Given the description of an element on the screen output the (x, y) to click on. 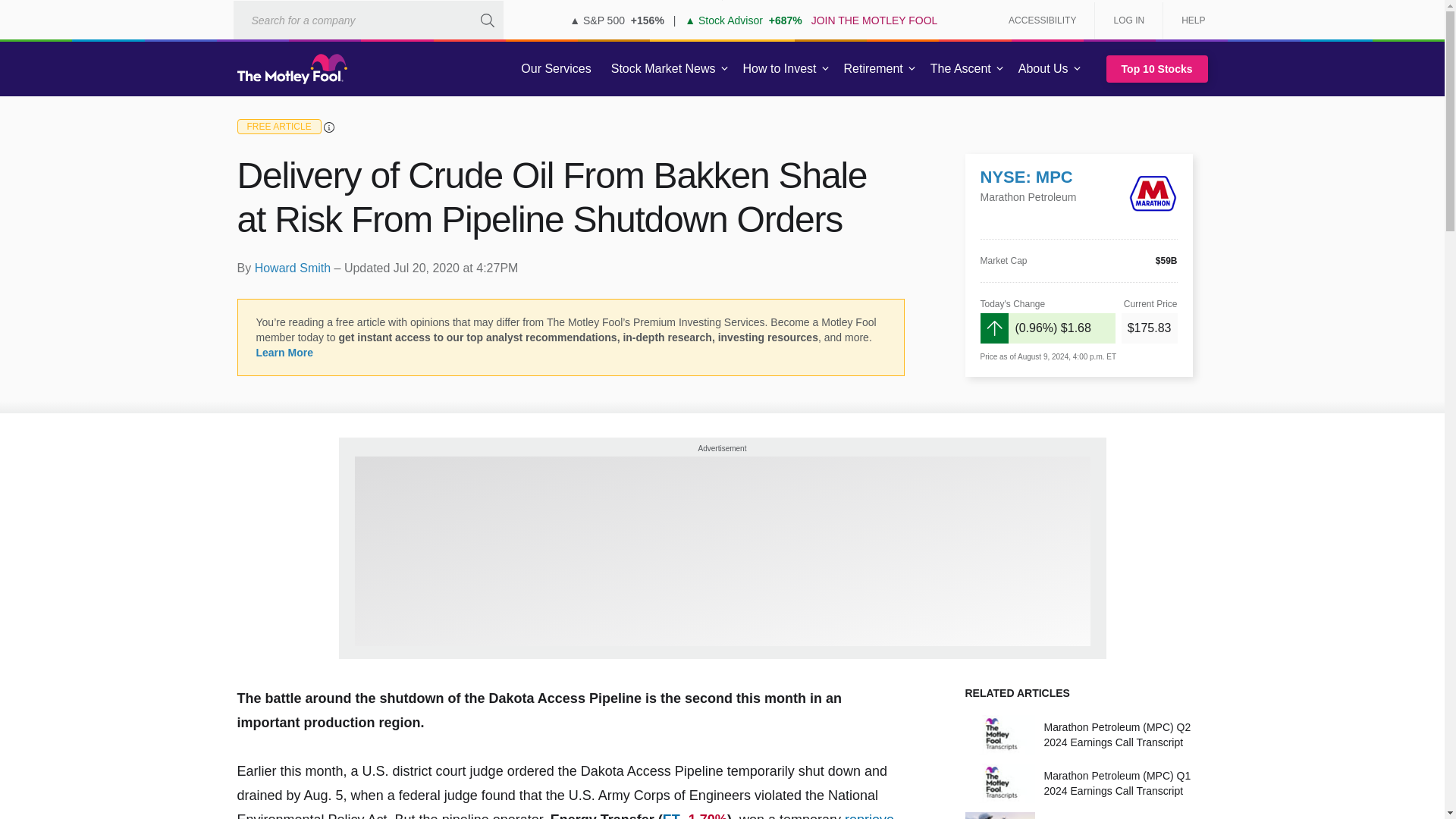
HELP (1187, 19)
LOG IN (1128, 19)
Stock Market News (662, 68)
ACCESSIBILITY (1042, 19)
How to Invest (779, 68)
Our Services (555, 68)
